Given the description of an element on the screen output the (x, y) to click on. 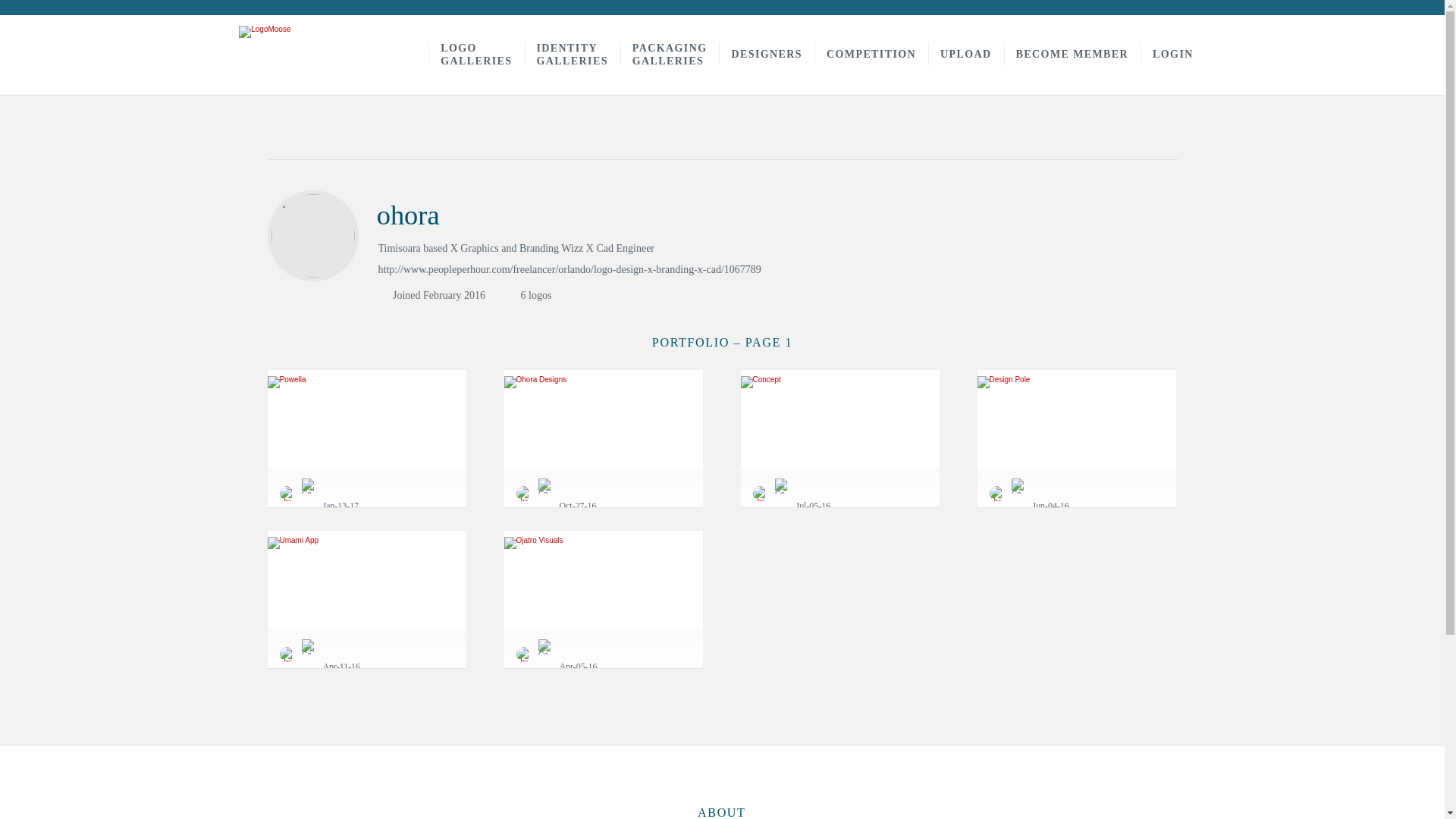
Become Member (1072, 55)
Identity Galleries (572, 55)
Upload (572, 55)
Logo Galleries (966, 55)
BECOME MEMBER (476, 55)
Identity Galleries (1072, 55)
LogoMoose Competition (669, 55)
COMPETITION (870, 55)
DESIGNERS (870, 55)
